Given the description of an element on the screen output the (x, y) to click on. 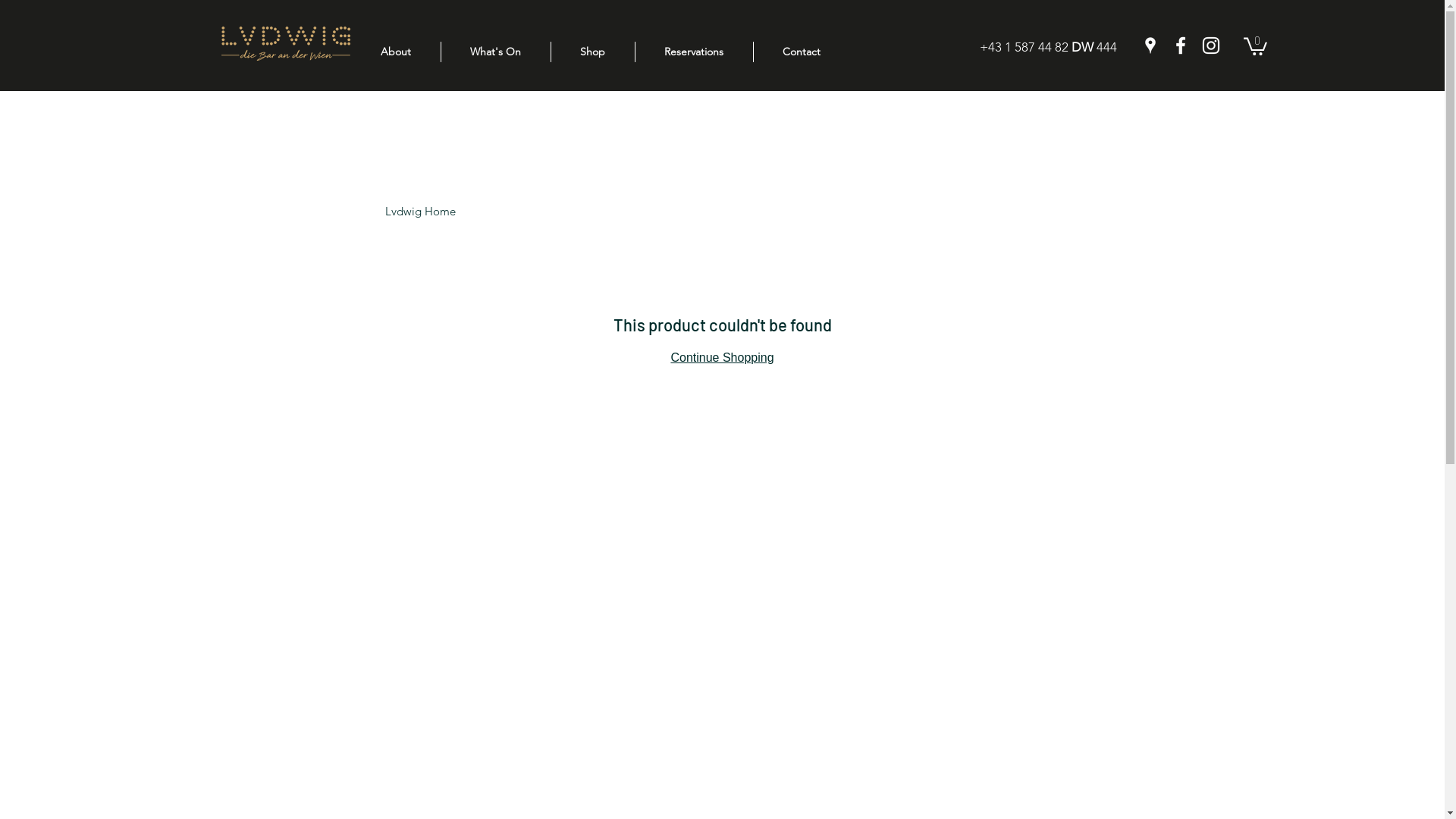
Lvdwig Home Element type: text (420, 210)
Shop Element type: text (591, 51)
What's On Element type: text (495, 51)
Contact Element type: text (801, 51)
0 Element type: text (1255, 45)
About Element type: text (394, 51)
Continue Shopping Element type: text (721, 357)
+43 1 587 44 82 DW 444 Element type: text (1048, 46)
Reservations Element type: text (694, 51)
